Given the description of an element on the screen output the (x, y) to click on. 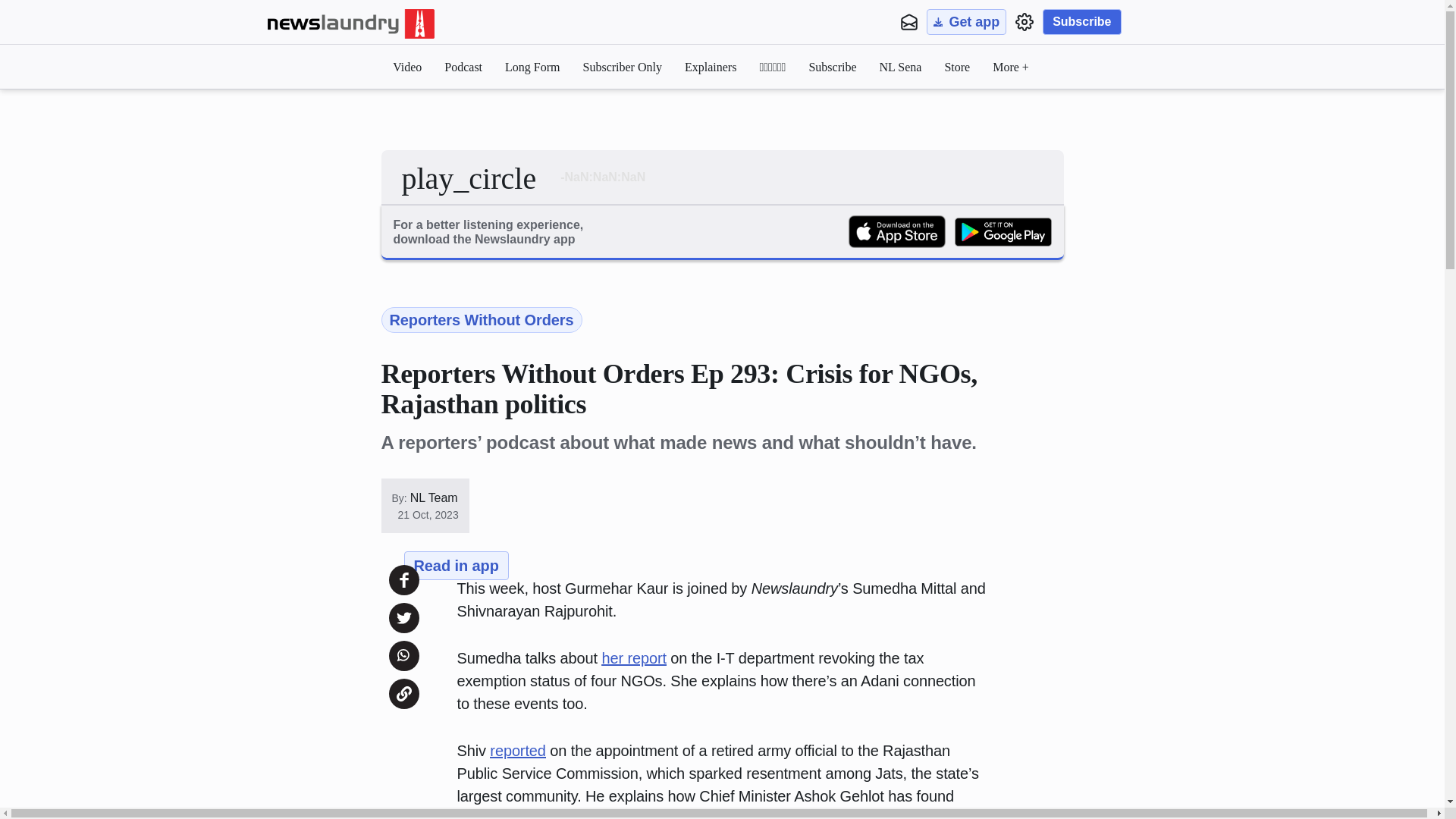
Video (407, 66)
Get app (966, 22)
More (1010, 66)
Long Form (532, 66)
Podcast (462, 66)
Subscribe (1081, 22)
Subscriber Only (622, 66)
Subscribe (832, 66)
NL Sena (900, 66)
2023-10-21 09:04 (427, 514)
